Given the description of an element on the screen output the (x, y) to click on. 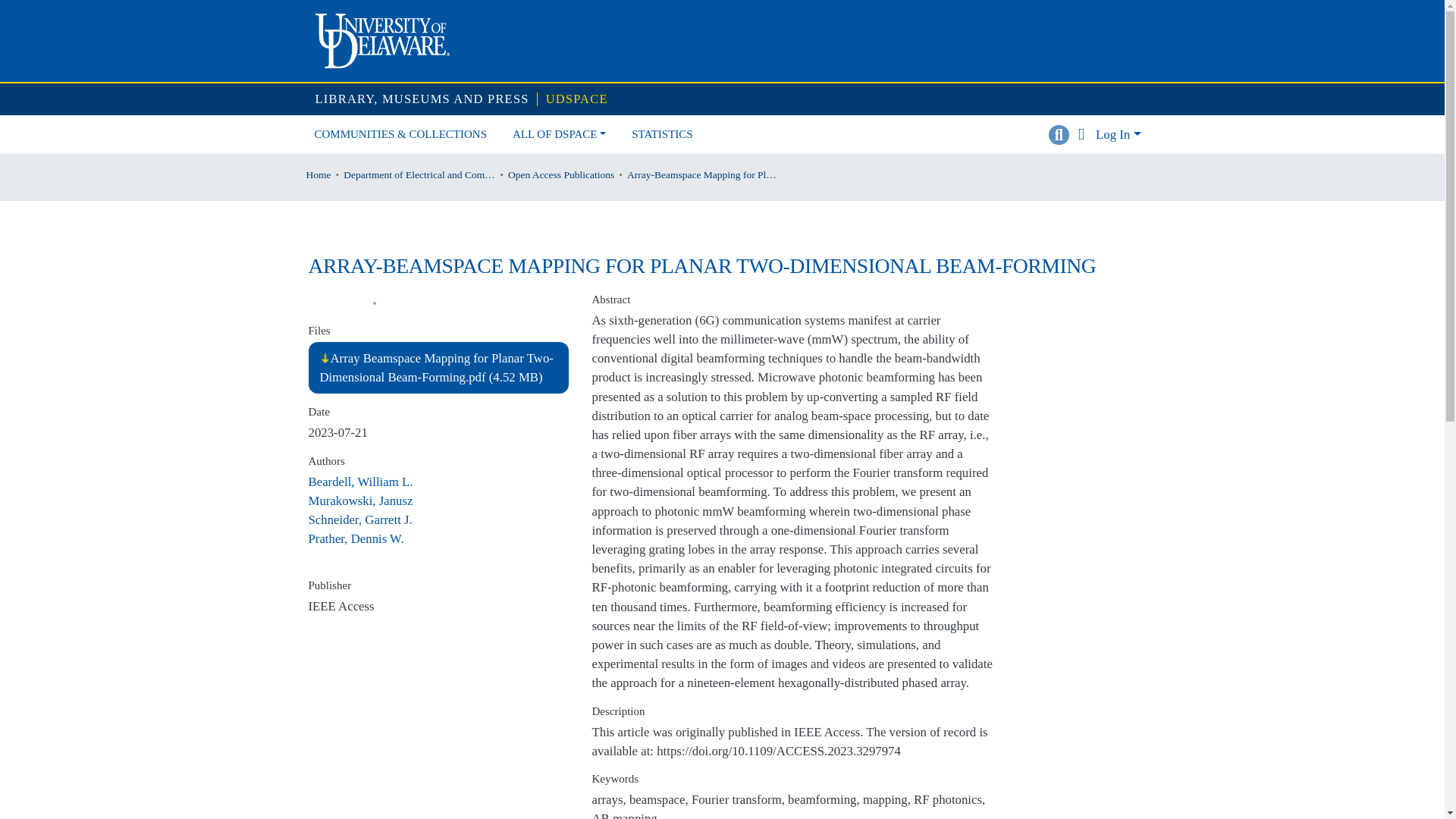
Log In (1117, 134)
Language switch (1080, 134)
ALL OF DSPACE (558, 134)
STATISTICS (661, 134)
University of Delaware Library Museums and Press Website (422, 99)
Beardell, William L. (359, 481)
Search (1058, 134)
UDSPACE (577, 99)
Prather, Dennis W. (355, 538)
Home (318, 174)
